Given the description of an element on the screen output the (x, y) to click on. 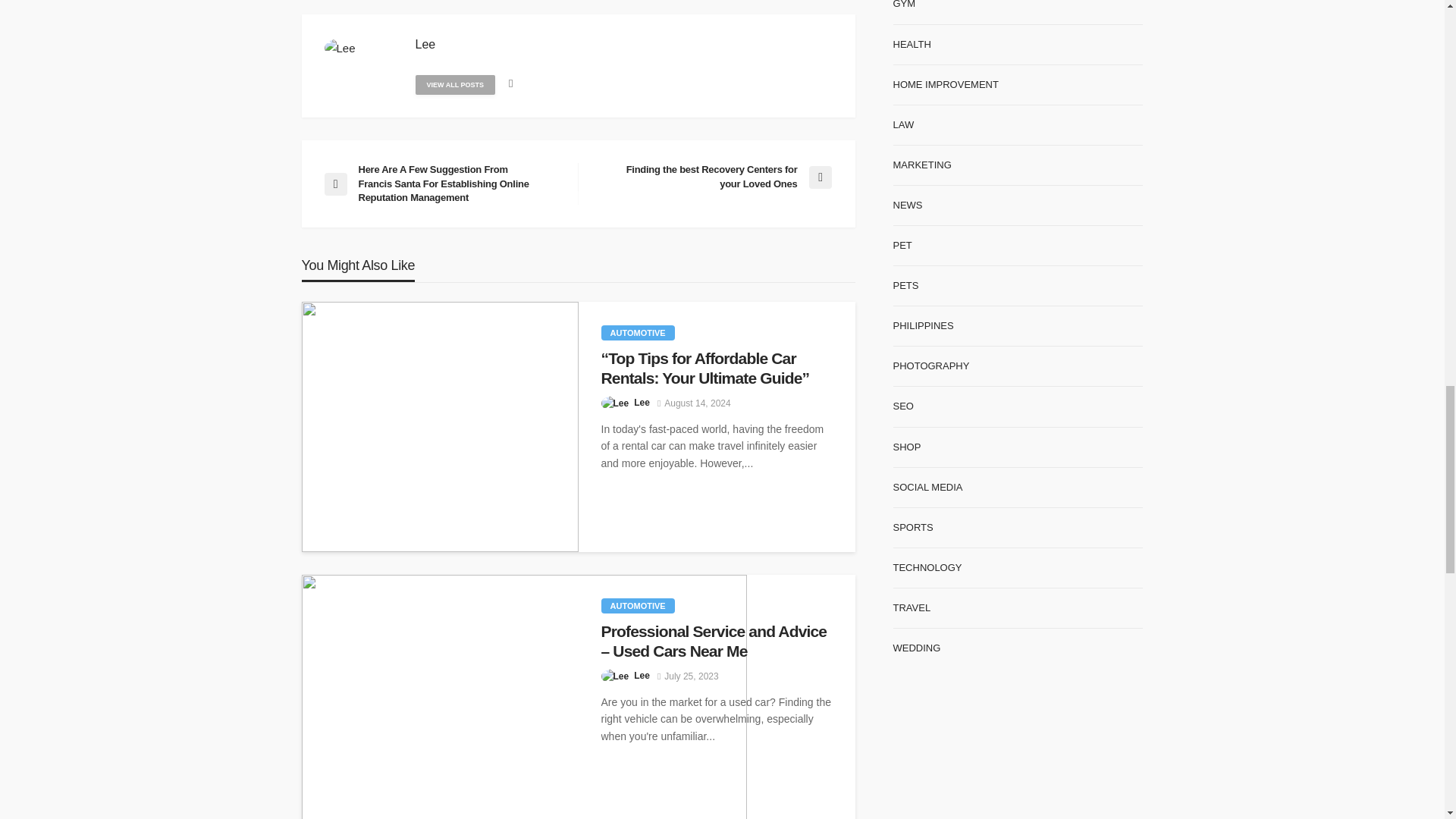
VIEW ALL POSTS (455, 85)
Automotive (636, 605)
Lee (641, 675)
Lee (641, 402)
Automotive (636, 332)
Finding the best Recovery Centers for your Loved Ones (711, 176)
Lee (424, 44)
AUTOMOTIVE (636, 605)
